Given the description of an element on the screen output the (x, y) to click on. 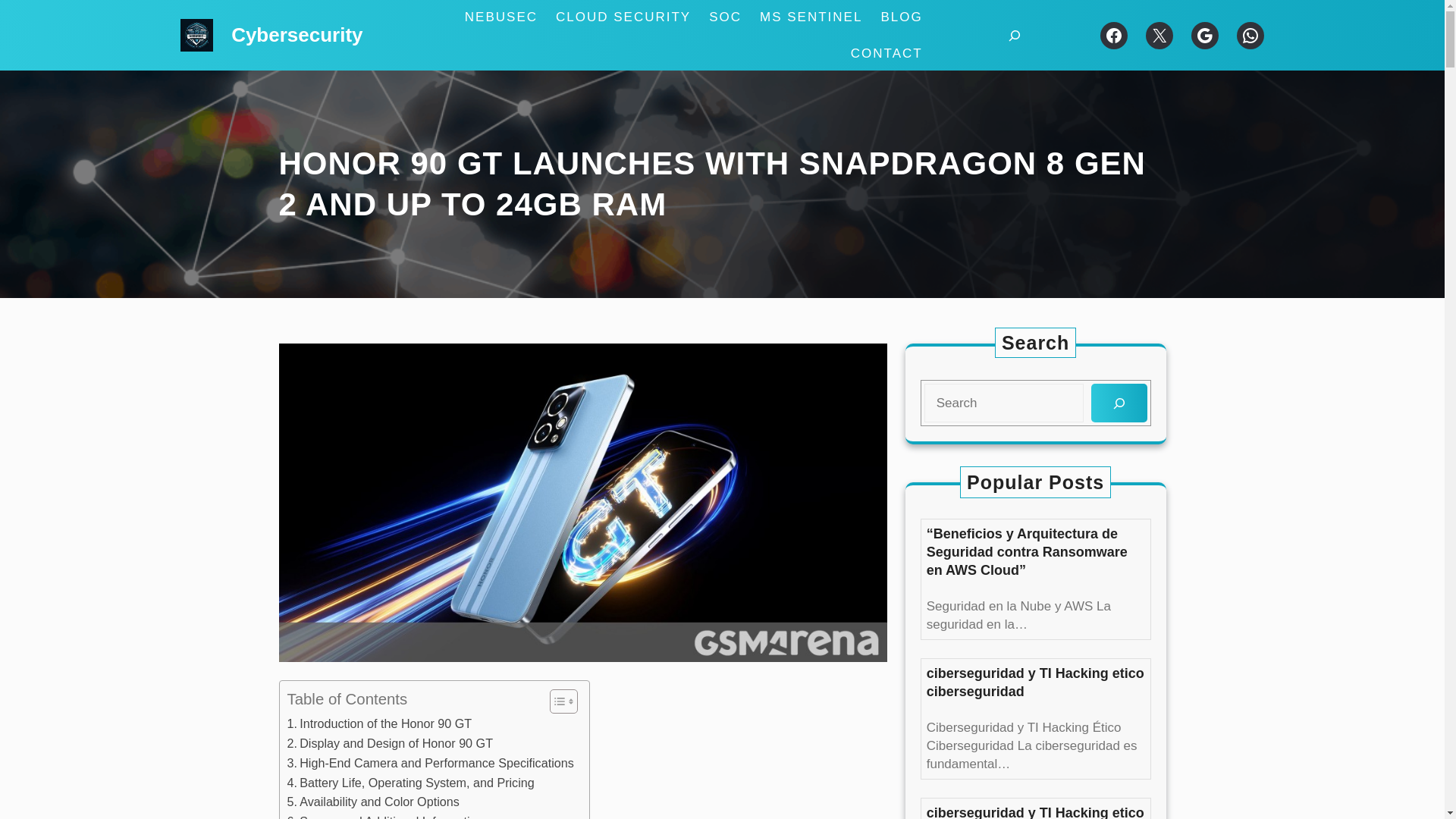
Facebook (1113, 35)
WhatsApp (1249, 35)
ciberseguridad y TI Hacking etico ciberseguridad (1035, 811)
Display and Design of Honor 90 GT (389, 743)
Display and Design of Honor 90 GT (389, 743)
Cybersecurity (296, 34)
High-End Camera and Performance Specifications (429, 763)
SOC (725, 17)
NEBUSEC (500, 17)
Introduction of the Honor 90 GT (378, 723)
Source and Additional Information (384, 815)
Battery Life, Operating System, and Pricing (410, 783)
ciberseguridad y TI Hacking etico ciberseguridad (1035, 682)
Availability and Color Options (372, 802)
High-End Camera and Performance Specifications (429, 763)
